Given the description of an element on the screen output the (x, y) to click on. 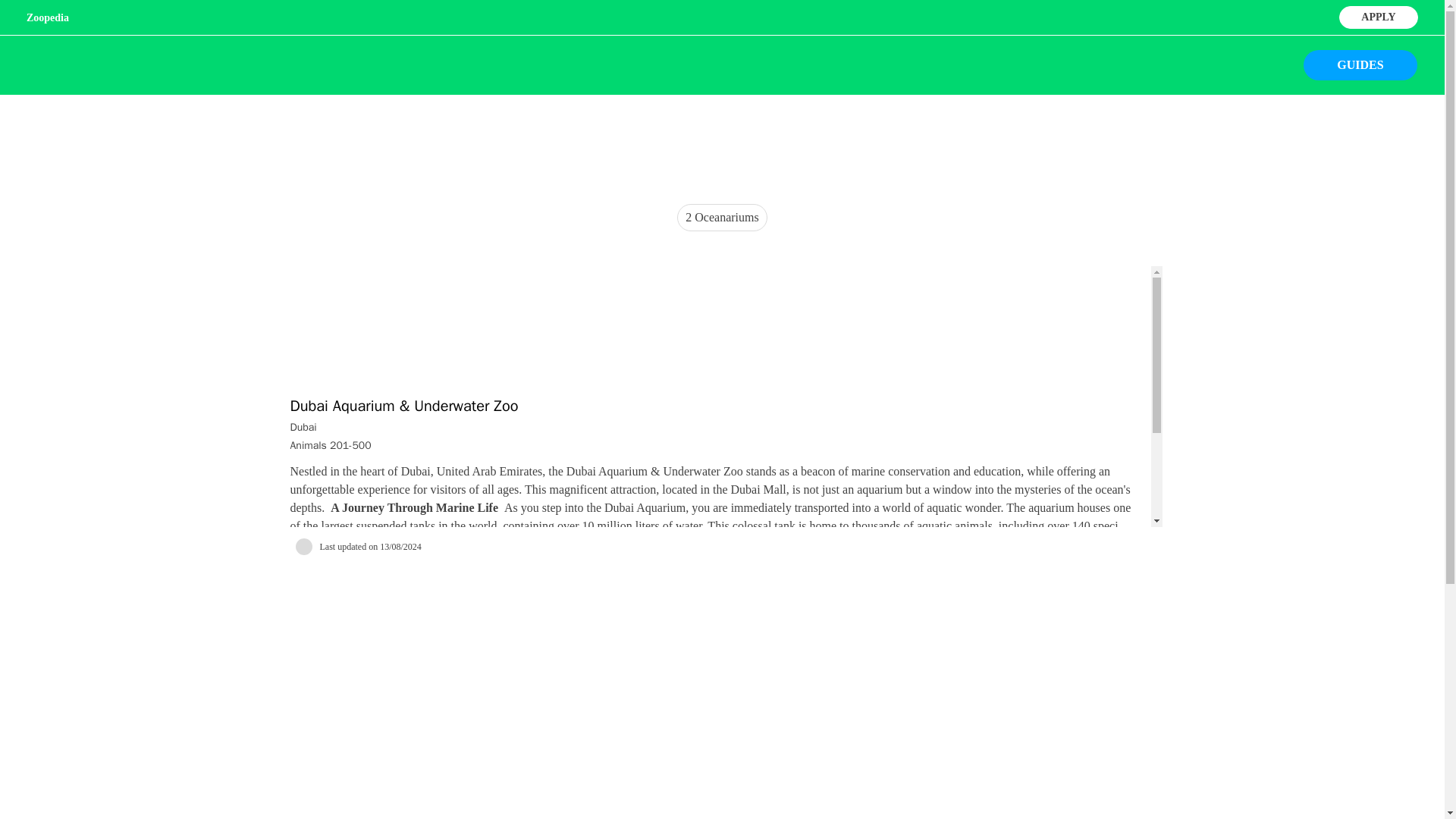
APPLY (1377, 15)
GUIDES (1359, 64)
Zoopedia (47, 17)
